Given the description of an element on the screen output the (x, y) to click on. 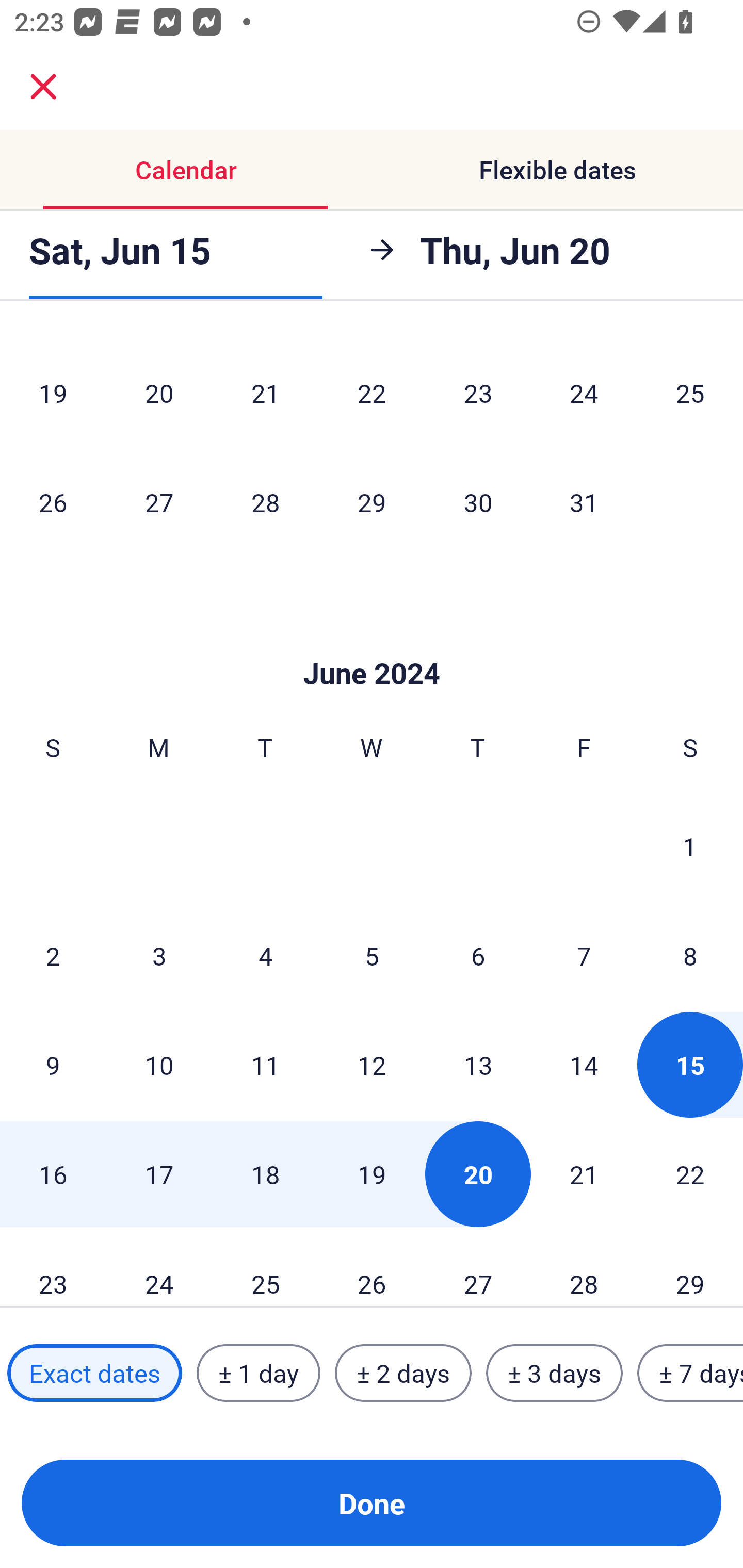
close. (43, 86)
Flexible dates (557, 170)
19 Sunday, May 19, 2024 (53, 392)
20 Monday, May 20, 2024 (159, 392)
21 Tuesday, May 21, 2024 (265, 392)
22 Wednesday, May 22, 2024 (371, 392)
23 Thursday, May 23, 2024 (477, 392)
24 Friday, May 24, 2024 (584, 392)
25 Saturday, May 25, 2024 (690, 392)
26 Sunday, May 26, 2024 (53, 502)
27 Monday, May 27, 2024 (159, 502)
28 Tuesday, May 28, 2024 (265, 502)
29 Wednesday, May 29, 2024 (371, 502)
30 Thursday, May 30, 2024 (477, 502)
31 Friday, May 31, 2024 (584, 502)
Skip to Done (371, 642)
1 Saturday, June 1, 2024 (689, 845)
2 Sunday, June 2, 2024 (53, 955)
3 Monday, June 3, 2024 (159, 955)
4 Tuesday, June 4, 2024 (265, 955)
5 Wednesday, June 5, 2024 (371, 955)
6 Thursday, June 6, 2024 (477, 955)
7 Friday, June 7, 2024 (584, 955)
8 Saturday, June 8, 2024 (690, 955)
9 Sunday, June 9, 2024 (53, 1064)
10 Monday, June 10, 2024 (159, 1064)
11 Tuesday, June 11, 2024 (265, 1064)
12 Wednesday, June 12, 2024 (371, 1064)
13 Thursday, June 13, 2024 (477, 1064)
14 Friday, June 14, 2024 (584, 1064)
21 Friday, June 21, 2024 (584, 1174)
22 Saturday, June 22, 2024 (690, 1174)
23 Sunday, June 23, 2024 (53, 1268)
24 Monday, June 24, 2024 (159, 1268)
25 Tuesday, June 25, 2024 (265, 1268)
26 Wednesday, June 26, 2024 (371, 1268)
27 Thursday, June 27, 2024 (477, 1268)
28 Friday, June 28, 2024 (584, 1268)
29 Saturday, June 29, 2024 (690, 1268)
Exact dates (94, 1372)
± 1 day (258, 1372)
± 2 days (403, 1372)
± 3 days (553, 1372)
± 7 days (690, 1372)
Done (371, 1502)
